Given the description of an element on the screen output the (x, y) to click on. 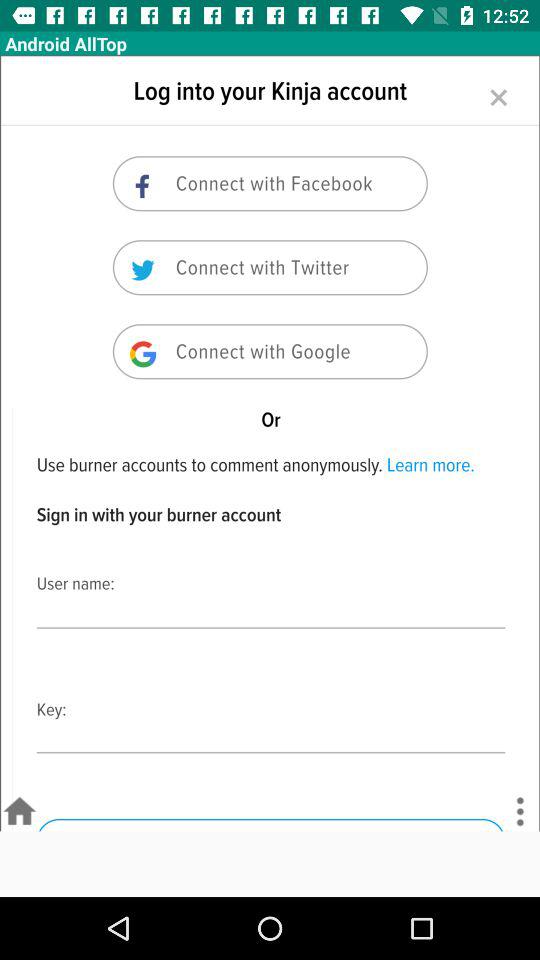
window screen (270, 443)
